Given the description of an element on the screen output the (x, y) to click on. 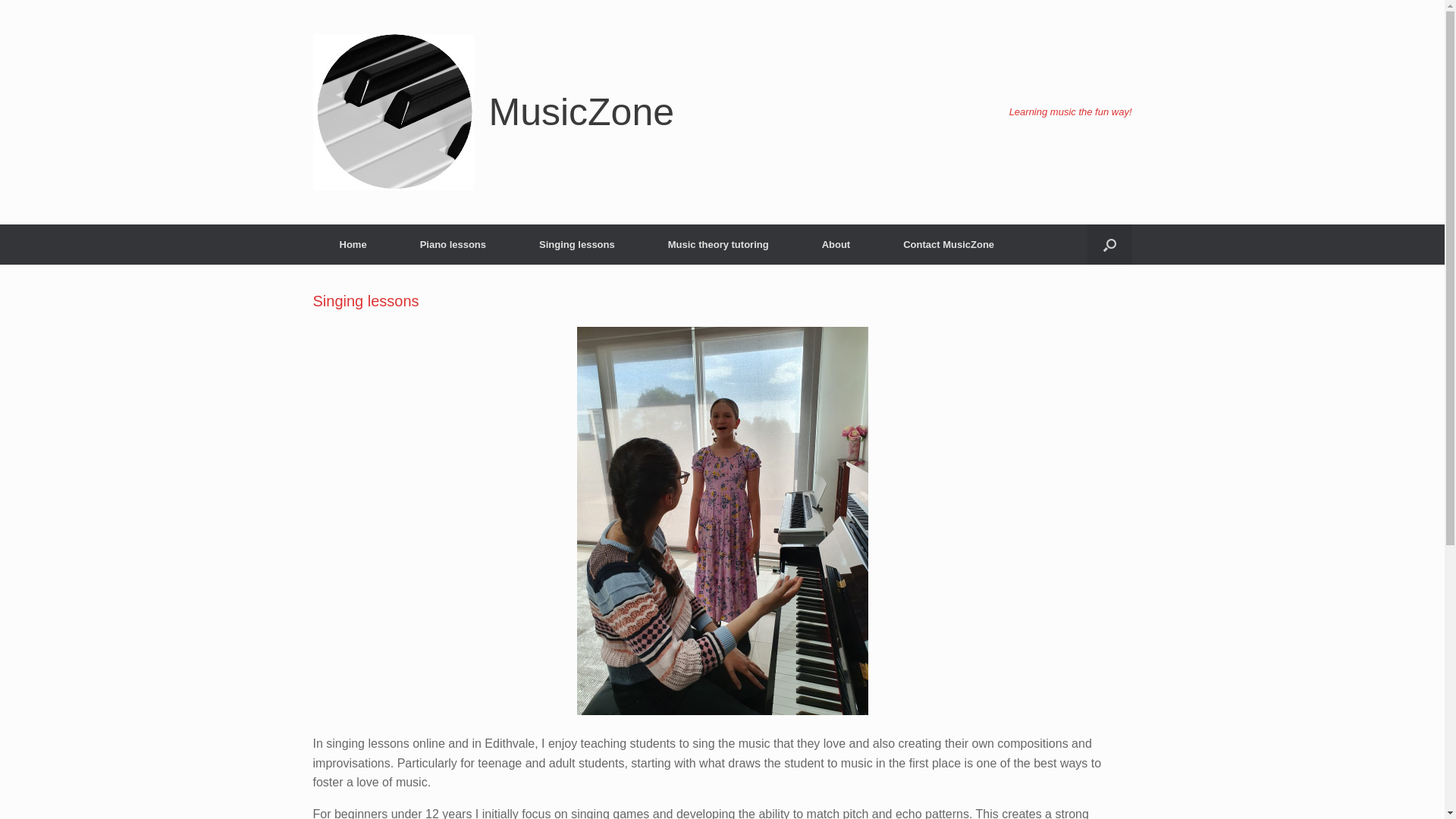
Singing lessons Element type: text (576, 244)
Piano lessons Element type: text (452, 244)
About Element type: text (836, 244)
Music theory tutoring Element type: text (718, 244)
Contact MusicZone Element type: text (948, 244)
MusicZone Element type: text (493, 112)
Home Element type: text (352, 244)
